Given the description of an element on the screen output the (x, y) to click on. 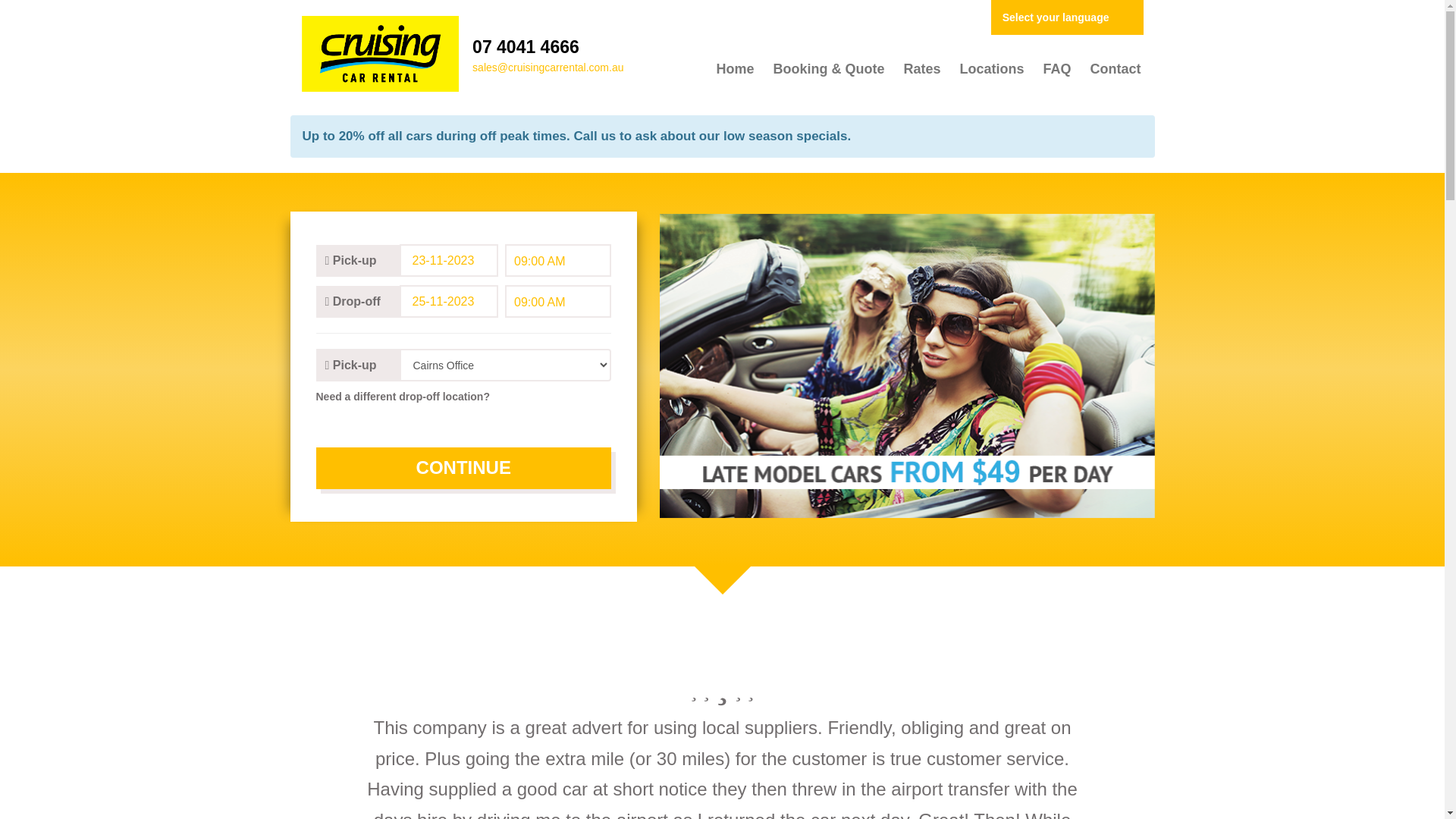
sales@cruisingcarrental.com.au Element type: text (547, 67)
Rates Element type: text (921, 68)
Locations Element type: text (990, 68)
Need a different drop-off location? Element type: text (463, 396)
Contact Element type: text (1114, 68)
FAQ Element type: text (1055, 68)
Select your language Element type: text (1067, 17)
Continue Element type: text (463, 467)
Booking & Quote Element type: text (827, 68)
Home Element type: text (734, 68)
